Given the description of an element on the screen output the (x, y) to click on. 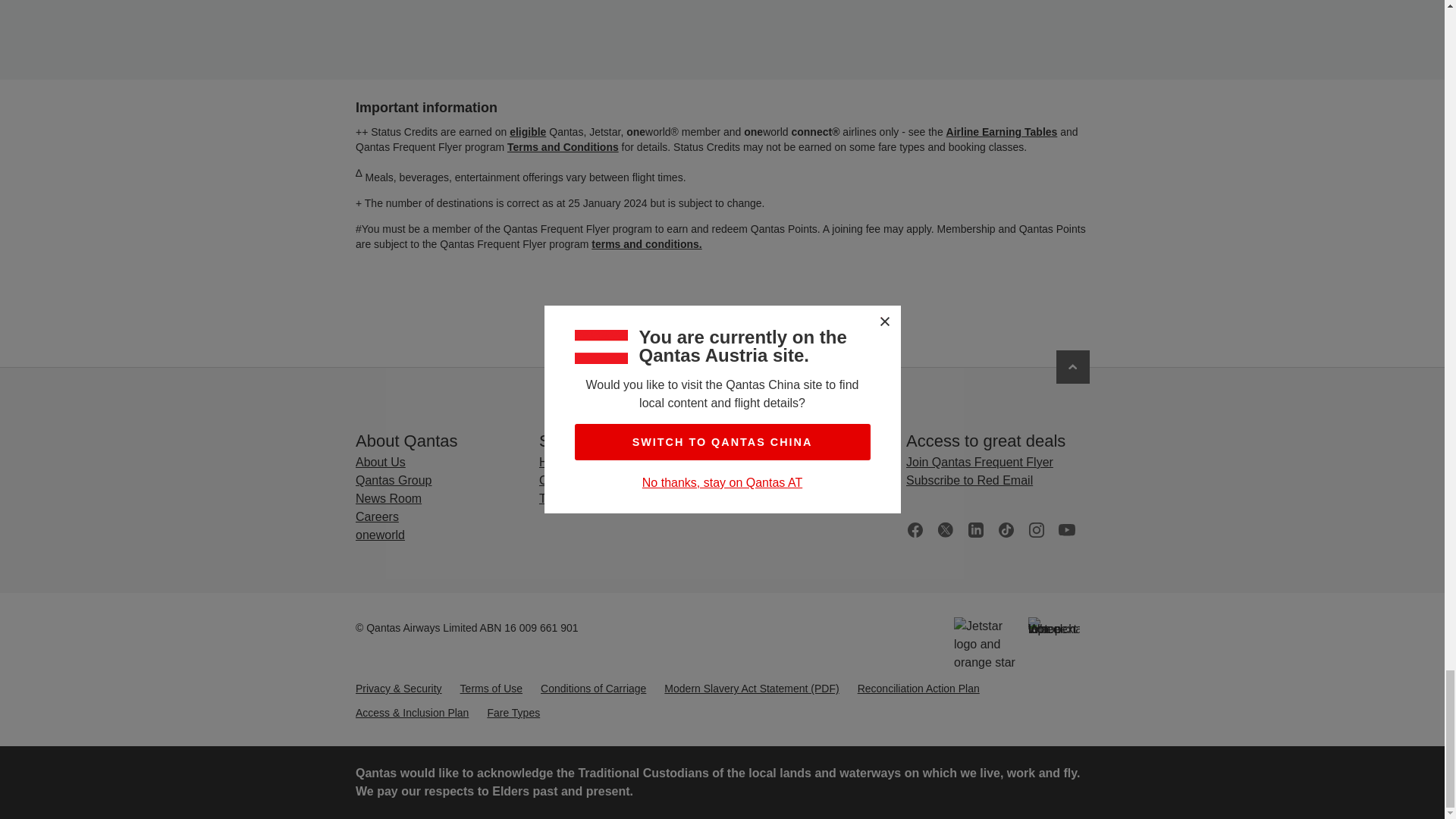
You tube (1066, 529)
eligible (527, 132)
Tiktok (1004, 529)
Twitter (944, 529)
Linkedin (975, 529)
Airline Earning Tables (1000, 132)
Instagram (1035, 529)
Facebook (914, 529)
Terms and Conditions (561, 146)
